Given the description of an element on the screen output the (x, y) to click on. 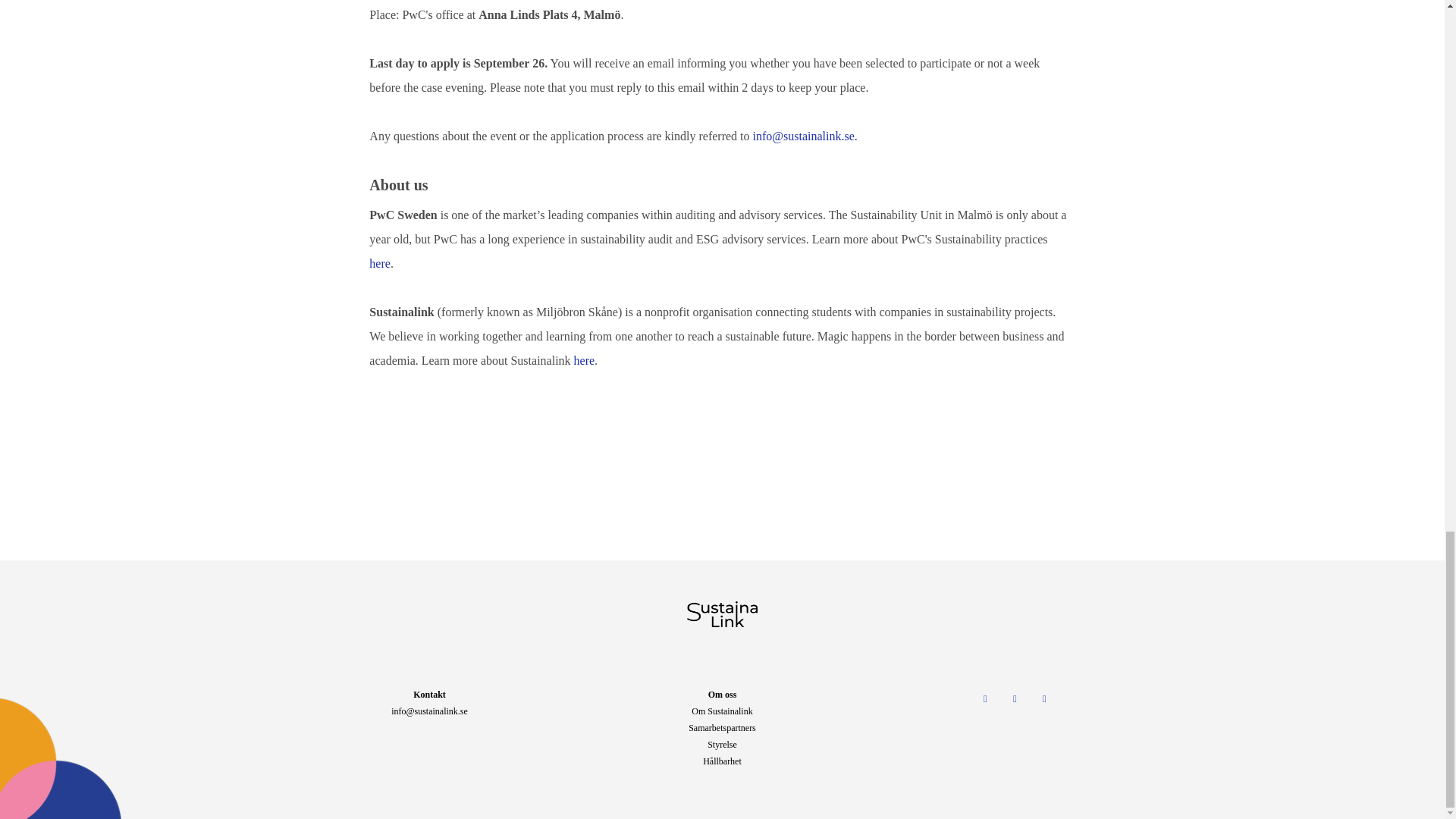
Om Sustainalink (721, 710)
Styrelse (721, 744)
Samarbetspartners (721, 727)
here (584, 359)
here (379, 263)
